Given the description of an element on the screen output the (x, y) to click on. 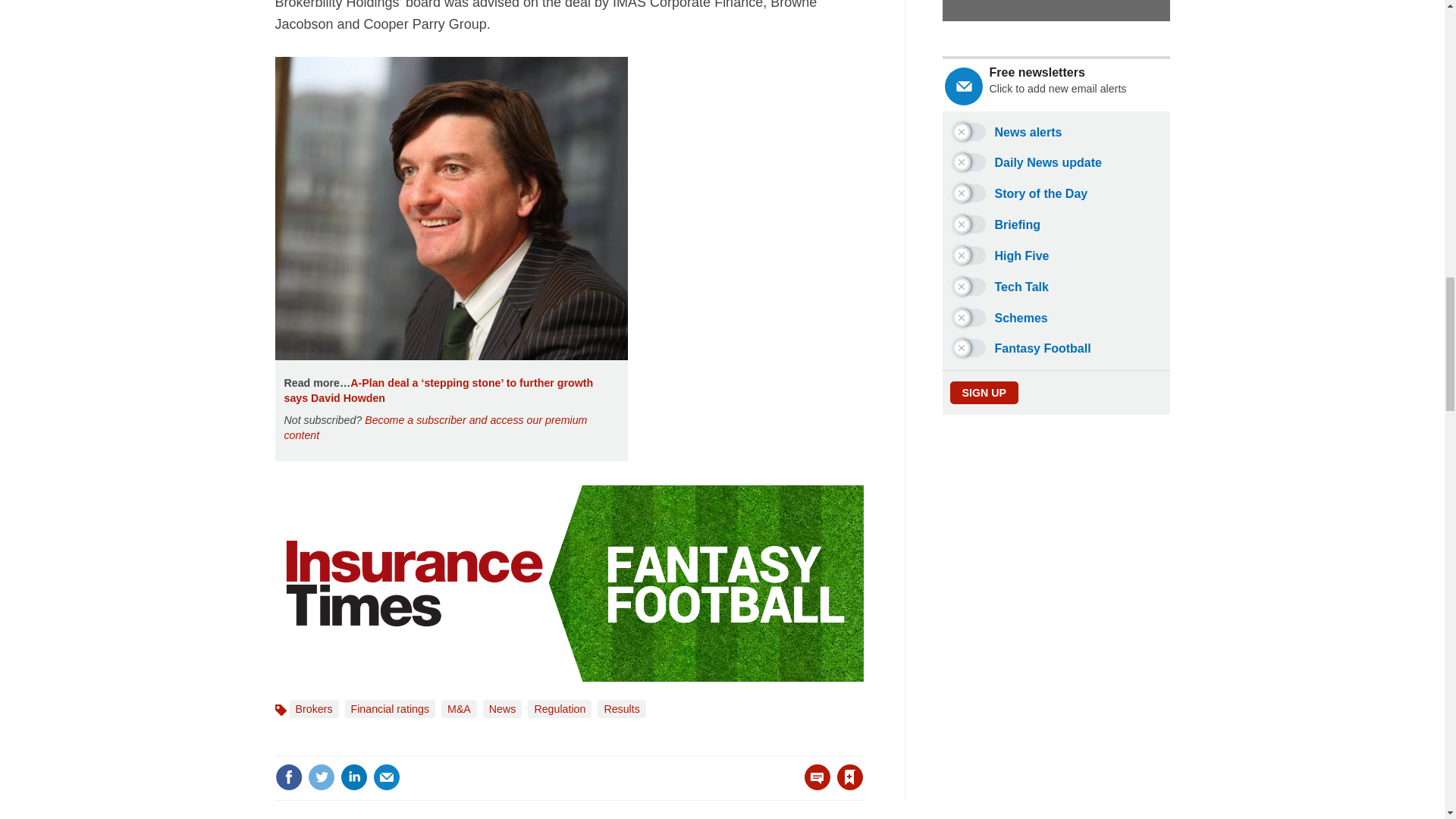
Share this on Linked in (352, 777)
Share this on Facebook (288, 777)
No comments (812, 785)
Share this on Twitter (320, 777)
Email this article (386, 777)
